Given the description of an element on the screen output the (x, y) to click on. 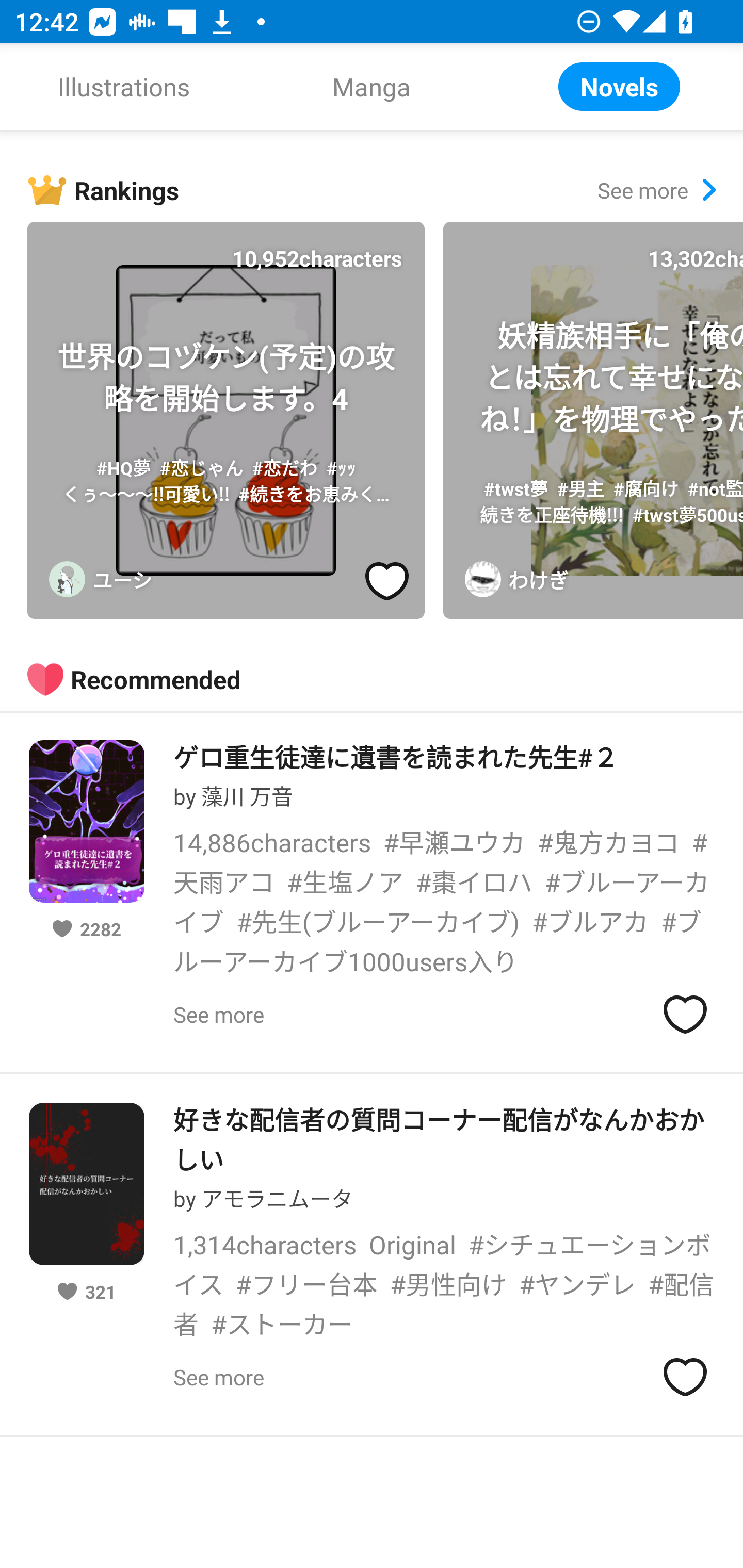
Illustrations (123, 86)
Manga (371, 86)
Novels (619, 86)
Rankings See more (385, 190)
